Given the description of an element on the screen output the (x, y) to click on. 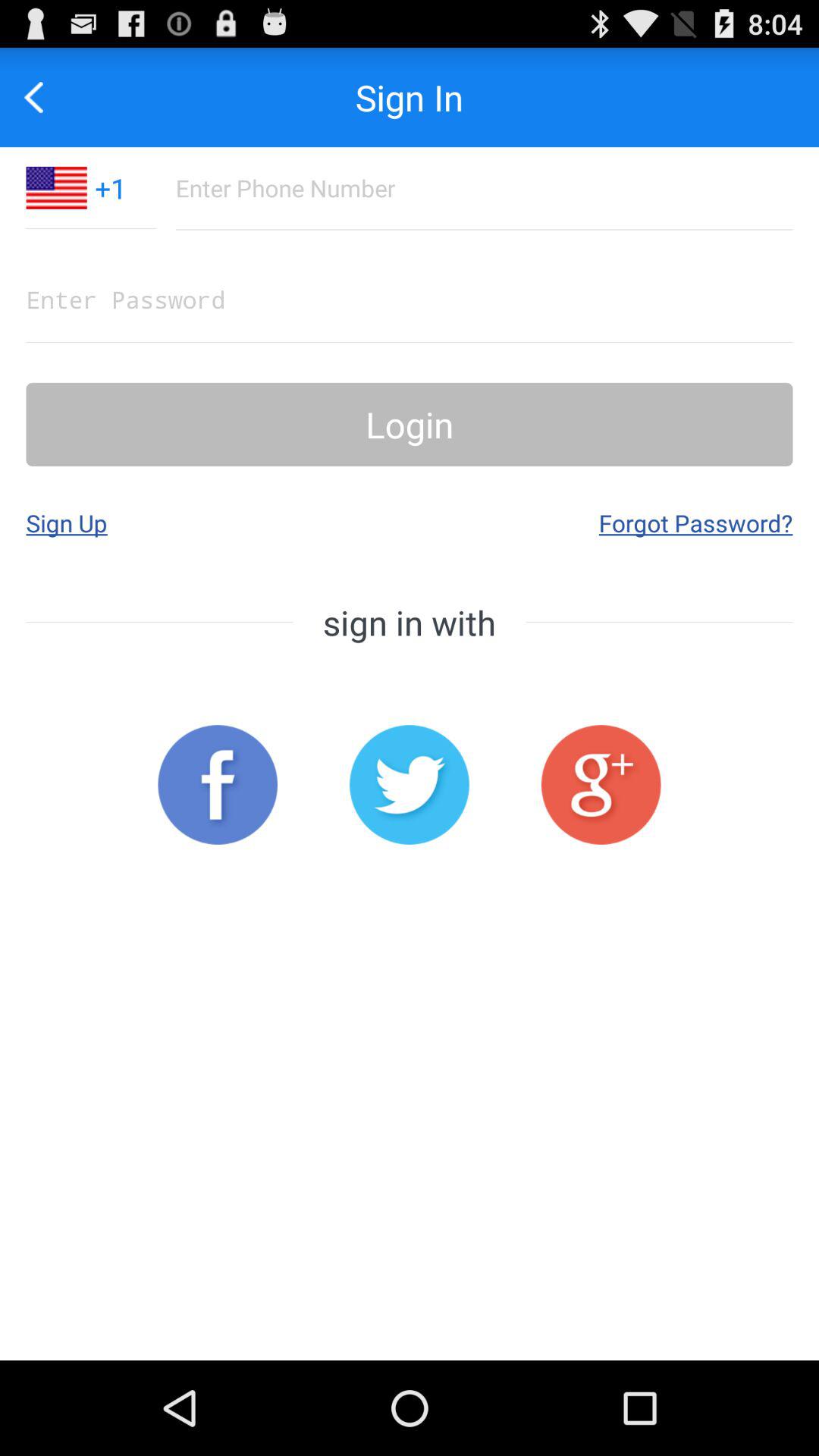
turn off the app below the sign in with icon (409, 784)
